Given the description of an element on the screen output the (x, y) to click on. 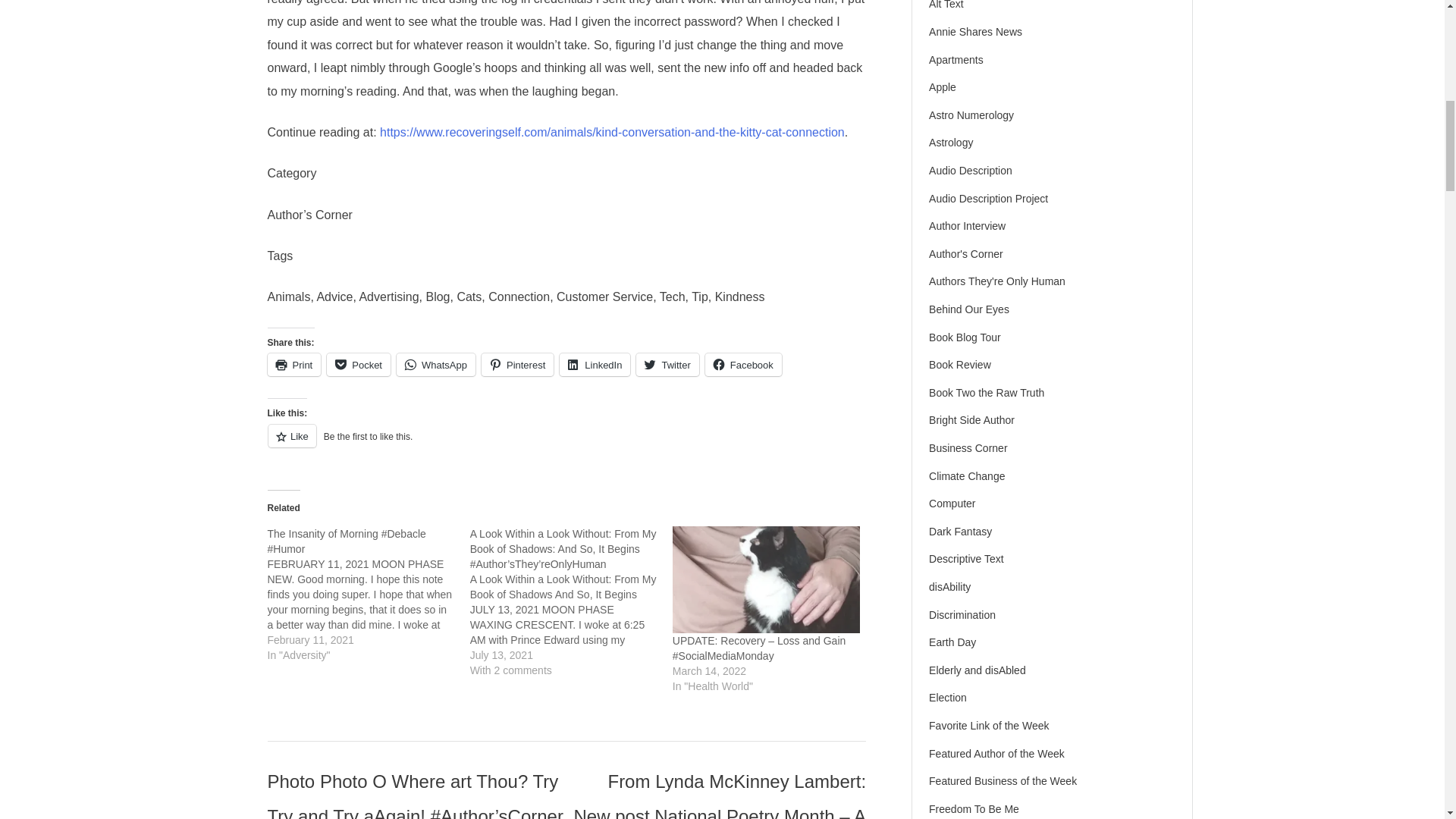
Like or Reblog (566, 445)
WhatsApp (436, 363)
Twitter (667, 363)
Pinterest (517, 363)
Click to share on Facebook (742, 363)
Click to print (293, 363)
Click to share on Twitter (667, 363)
Print (293, 363)
Click to share on Pinterest (517, 363)
Click to share on WhatsApp (436, 363)
